Given the description of an element on the screen output the (x, y) to click on. 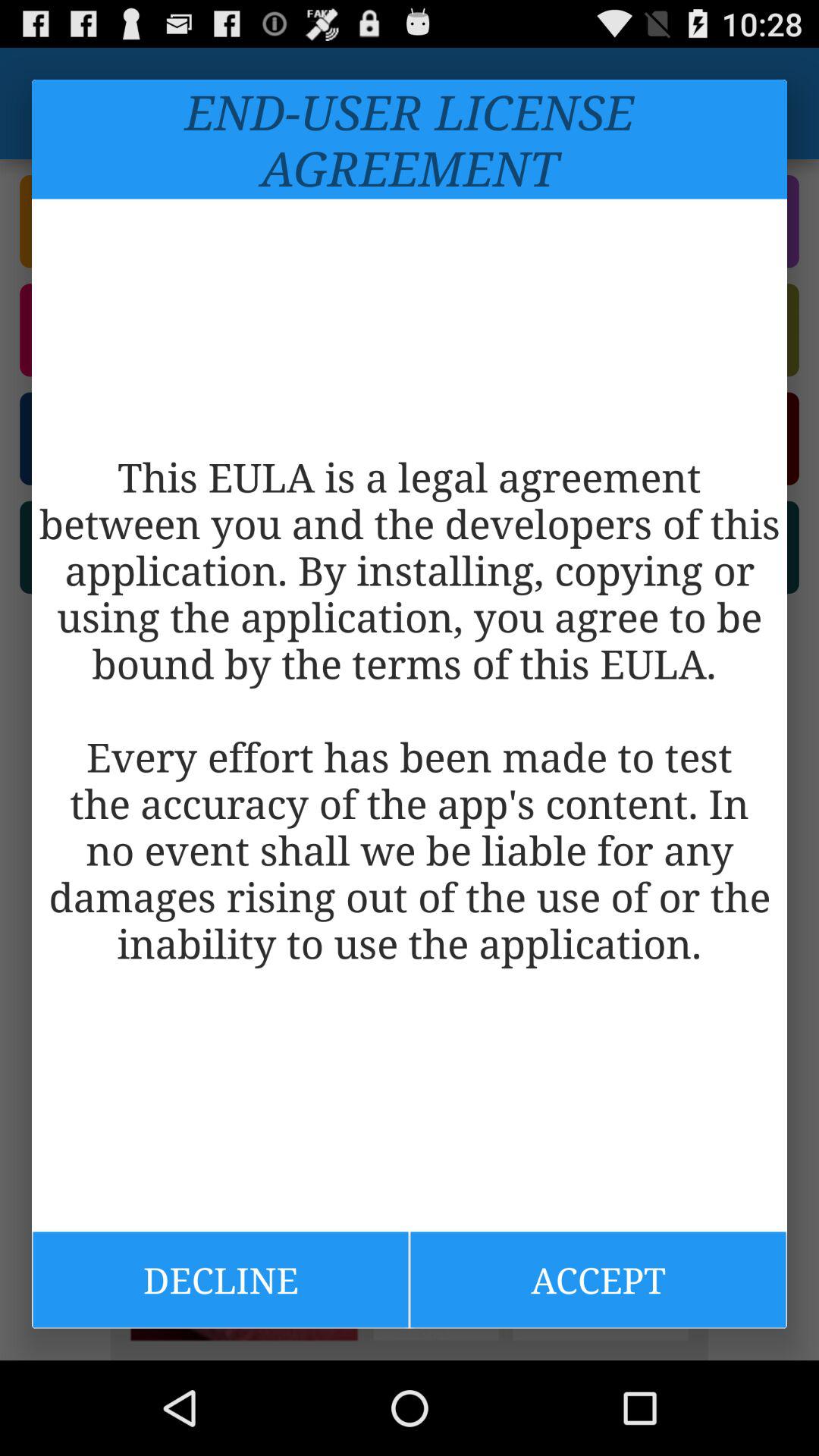
flip until the decline item (220, 1279)
